Given the description of an element on the screen output the (x, y) to click on. 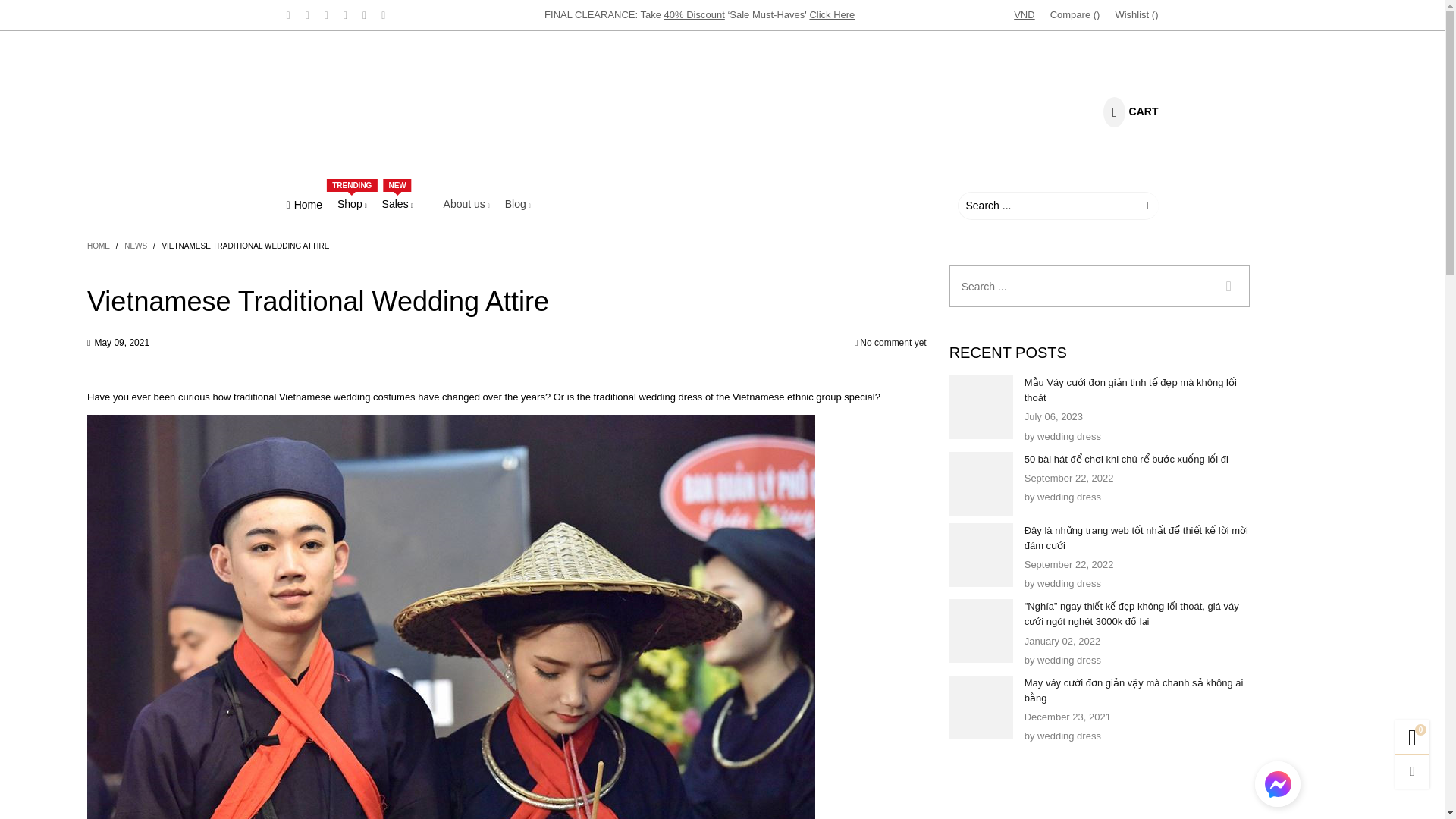
Home (303, 204)
Shop (351, 204)
Youtube (383, 15)
Pinterest (326, 15)
Compare (1075, 15)
About us (466, 204)
CART (1128, 112)
Facebook (307, 15)
Home (303, 204)
Currency (1024, 15)
